Given the description of an element on the screen output the (x, y) to click on. 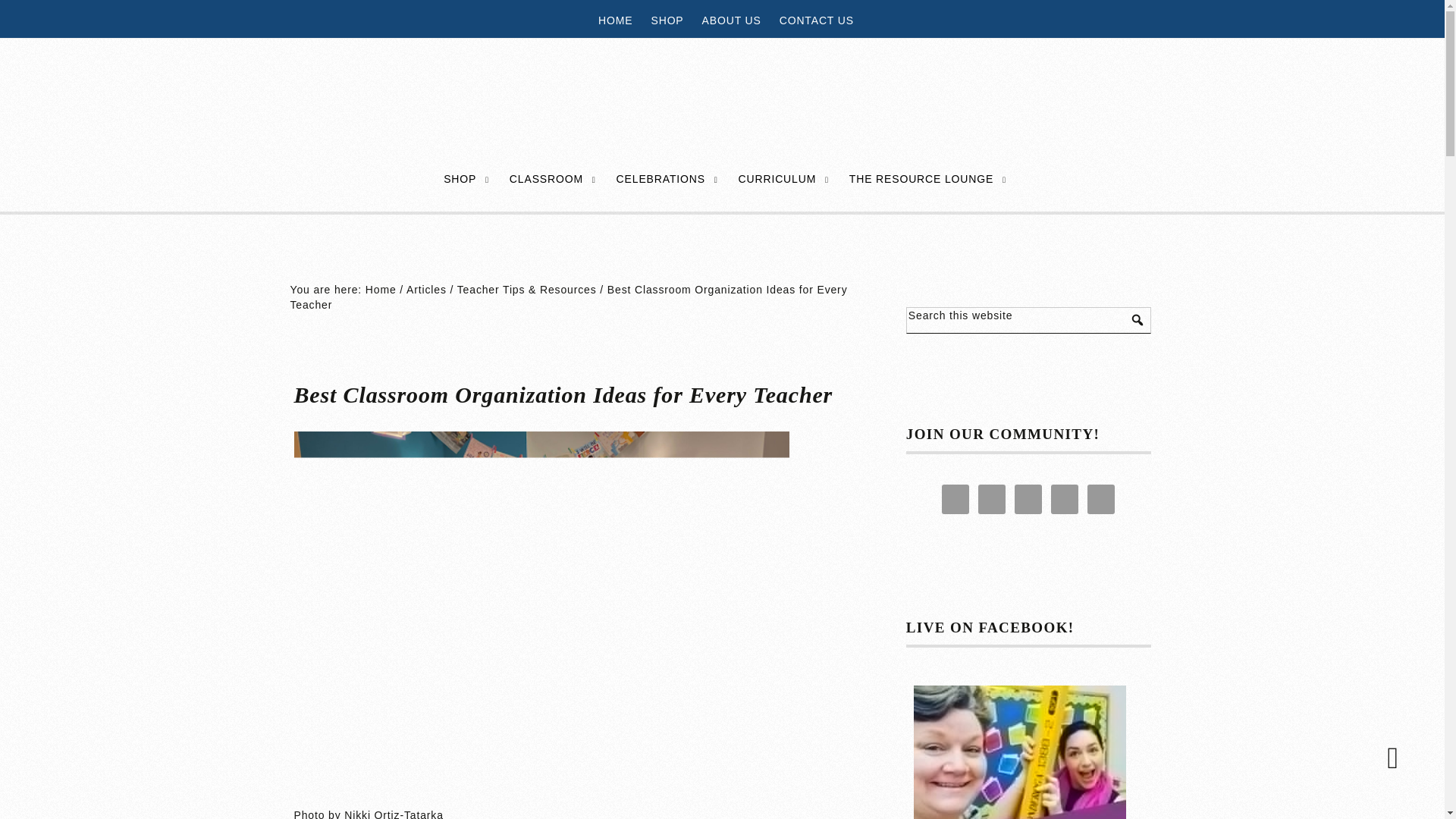
Home (380, 289)
SHOP (666, 20)
CONTACT US (816, 20)
CELEBRATIONS (660, 178)
SHOP (459, 178)
HOME (614, 20)
CLASSROOM (545, 178)
THE RESOURCE LOUNGE (921, 178)
ABOUT US (732, 20)
CURRICULUM (777, 178)
